Given the description of an element on the screen output the (x, y) to click on. 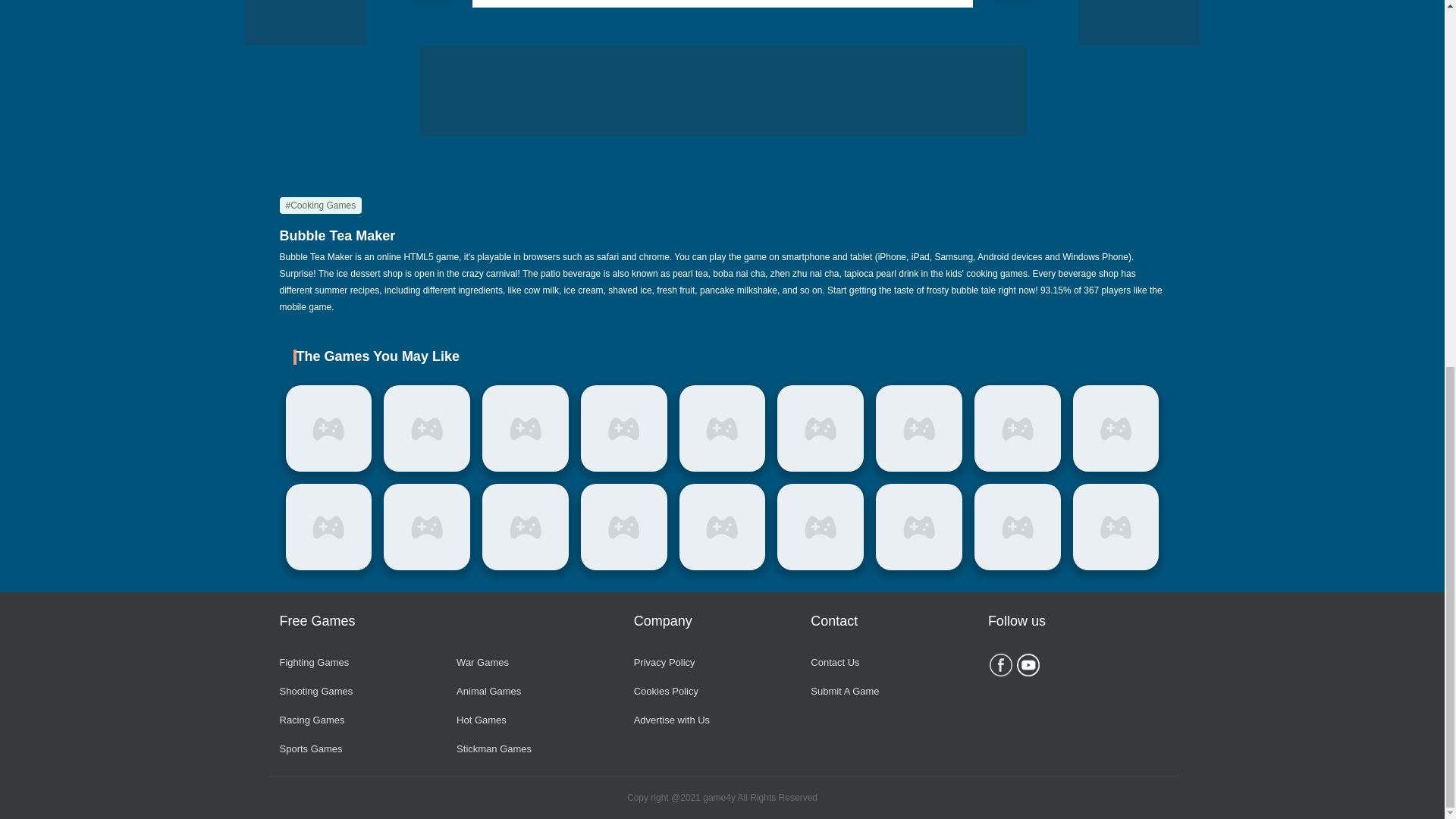
How To Make Homemade Sugar Cookies (623, 427)
Cooking Games (320, 205)
Baby Food Cooking (427, 427)
Unicorn Ice Cream Corn Maker (525, 427)
Hippo YouTube Desserts Blogger (722, 427)
Burger Now (328, 427)
Unicorn Food Fashion Maker (820, 427)
